Given the description of an element on the screen output the (x, y) to click on. 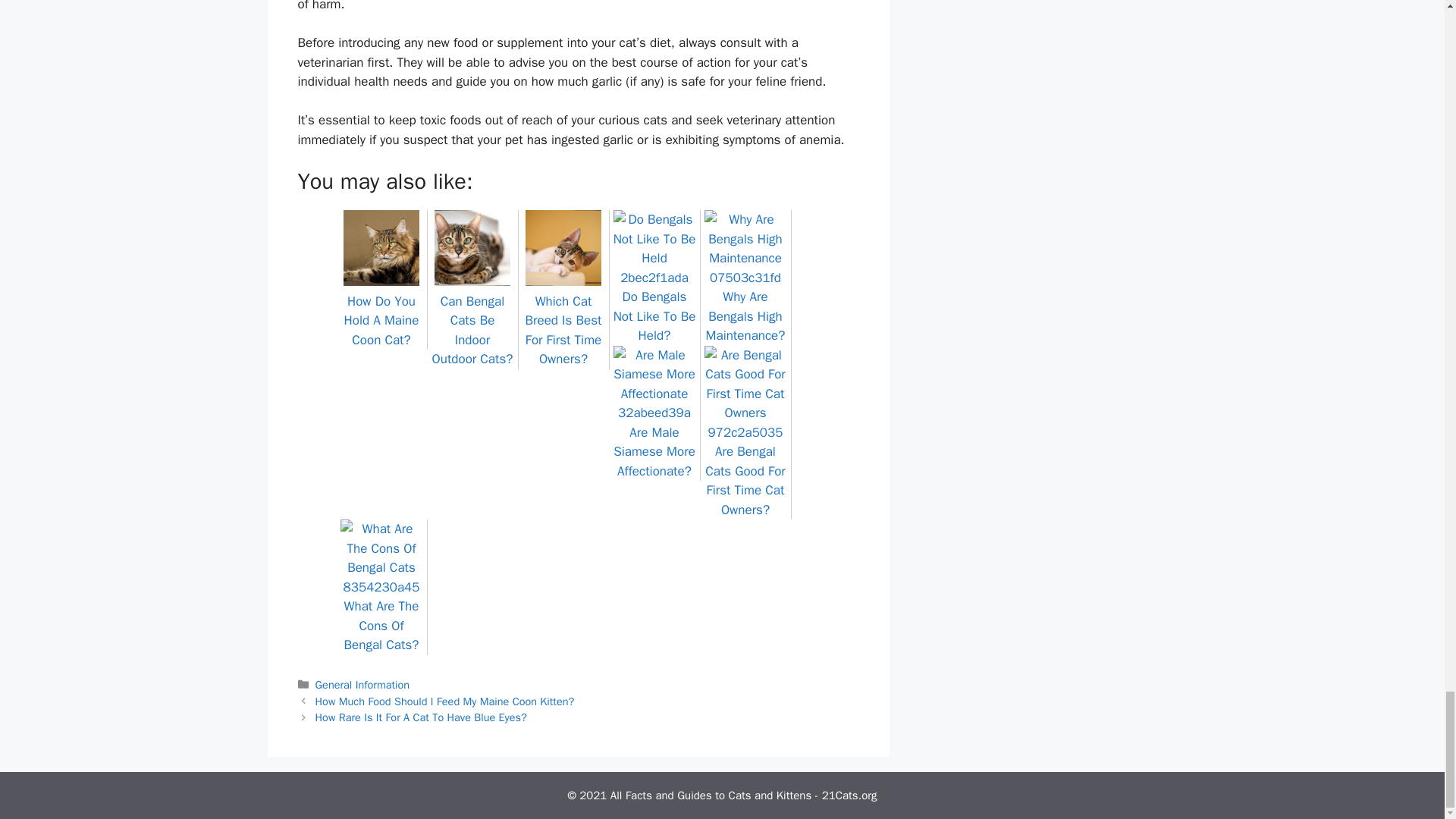
How Rare Is It For A Cat To Have Blue Eyes? (421, 716)
Are Male Siamese More Affectionate? 6 (653, 384)
Do Bengals Not Like To Be Held? 4 (653, 248)
Are Bengal Cats Good For First Time Cat Owners? 7 (744, 394)
Which Cat Breed Is Best For First Time Owners? (563, 319)
Why Are Bengals High Maintenance? 5 (744, 248)
Can Bengal Cats Be Indoor Outdoor Cats? 2 (472, 247)
Are Male Siamese More Affectionate? (653, 441)
How Much Food Should I Feed My Maine Coon Kitten? (445, 701)
Can Bengal Cats Be Indoor Outdoor Cats? (472, 319)
Are Bengal Cats Good For First Time Cat Owners? (744, 471)
Which Cat Breed Is Best For First Time Owners? 3 (563, 247)
What Are The Cons Of Bengal Cats? 8 (380, 558)
Why Are Bengals High Maintenance? (744, 306)
How Do You Hold A Maine Coon Cat? (381, 310)
